Given the description of an element on the screen output the (x, y) to click on. 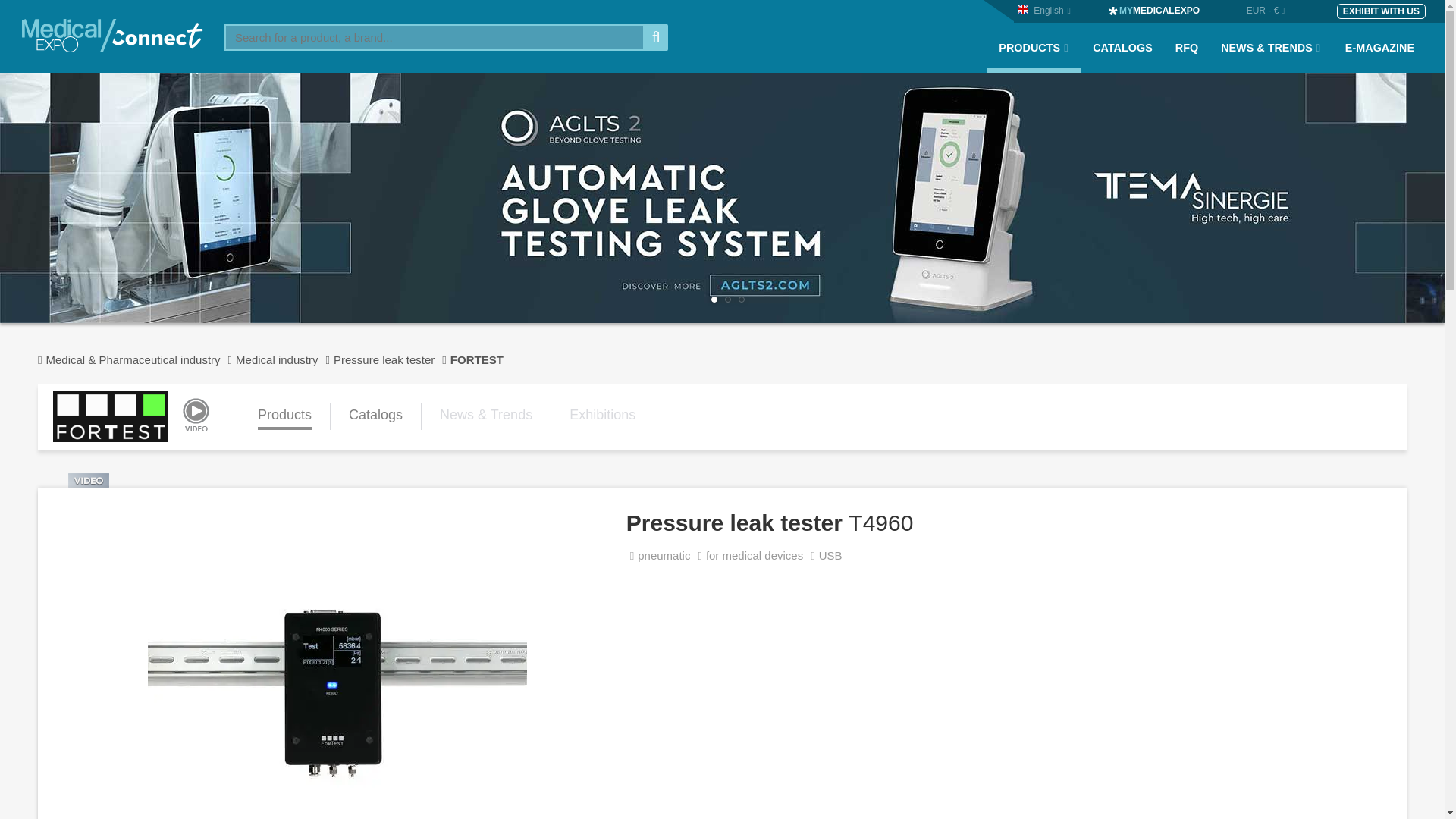
CATALOGS (1122, 56)
Pressure leak tester (391, 359)
English (1047, 9)
EXHIBIT WITH US (1380, 11)
Products (284, 416)
RFQ (1186, 56)
Catalogs (376, 416)
PRODUCTS (1034, 56)
Medical industry (284, 359)
E-MAGAZINE (1379, 56)
